Given the description of an element on the screen output the (x, y) to click on. 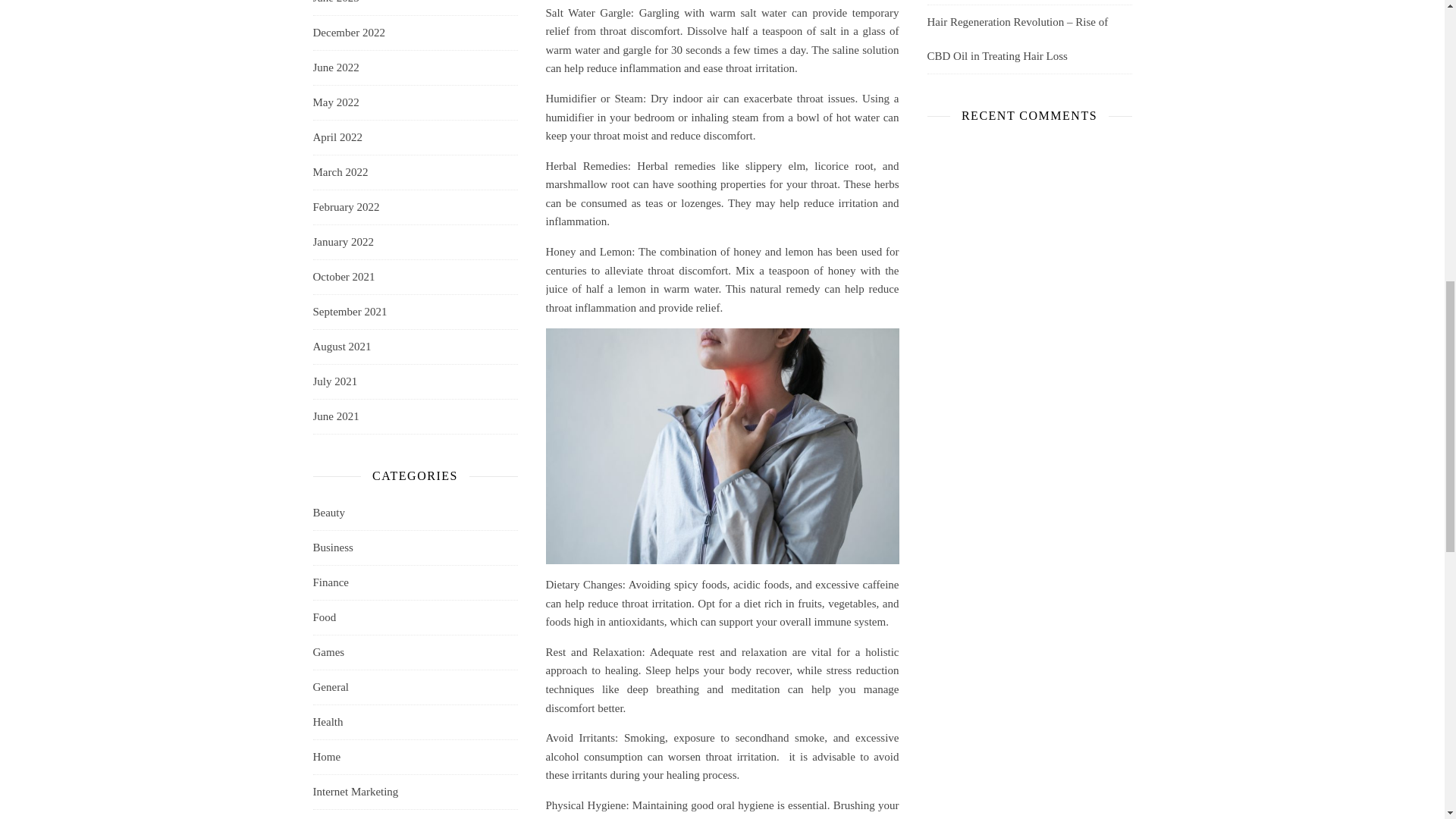
January 2022 (342, 242)
June 2022 (335, 67)
September 2021 (350, 311)
February 2022 (345, 207)
July 2021 (334, 381)
March 2022 (340, 172)
October 2021 (343, 277)
April 2022 (337, 137)
December 2022 (348, 32)
Beauty (329, 512)
May 2022 (335, 102)
June 2023 (335, 7)
August 2021 (342, 346)
General (330, 687)
Games (328, 652)
